Given the description of an element on the screen output the (x, y) to click on. 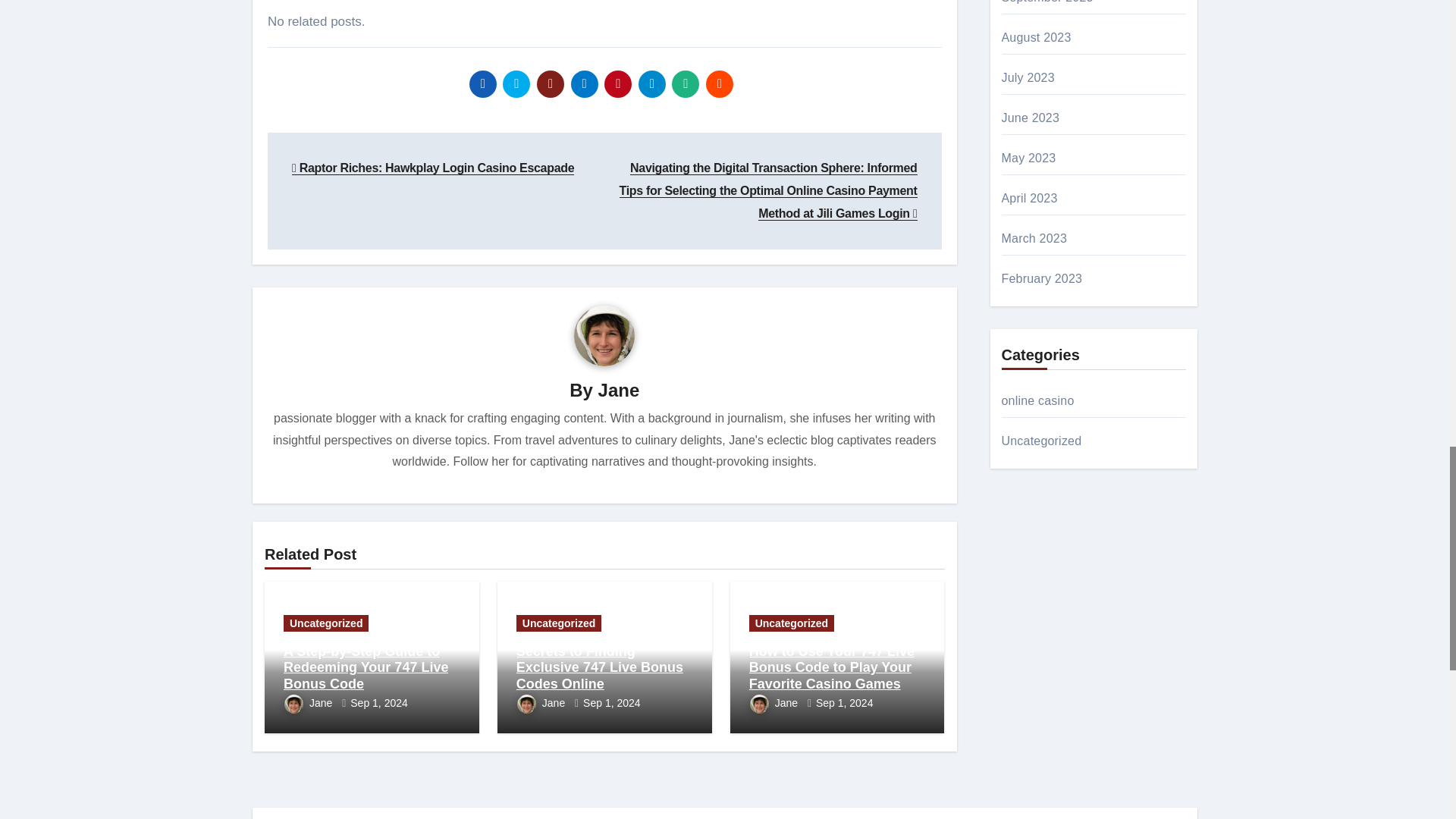
Uncategorized (325, 623)
A Step-by-Step Guide to Redeeming Your 747 Live Bonus Code (365, 667)
Sep 1, 2024 (378, 702)
Raptor Riches: Hawkplay Login Casino Escapade (432, 167)
Jane (308, 702)
Jane (619, 390)
